Given the description of an element on the screen output the (x, y) to click on. 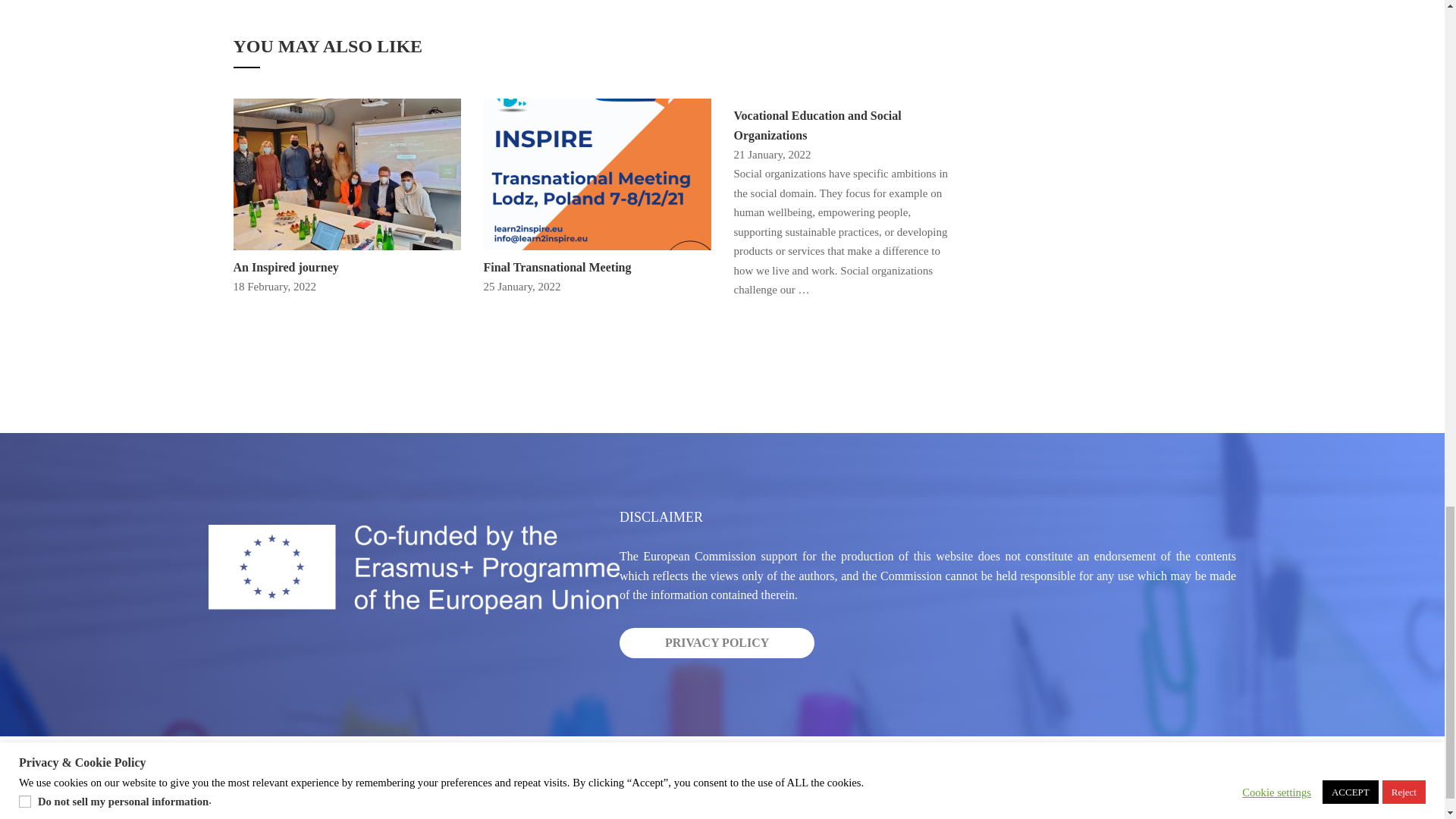
Final Transnational Meeting (557, 267)
Final Transnational Meeting (597, 173)
An Inspired journey (346, 173)
Vocational Education and Social Organizations (817, 124)
An Inspired journey (285, 267)
71721473-61d4-4dc0-8931-467b66309954 (346, 174)
